Given the description of an element on the screen output the (x, y) to click on. 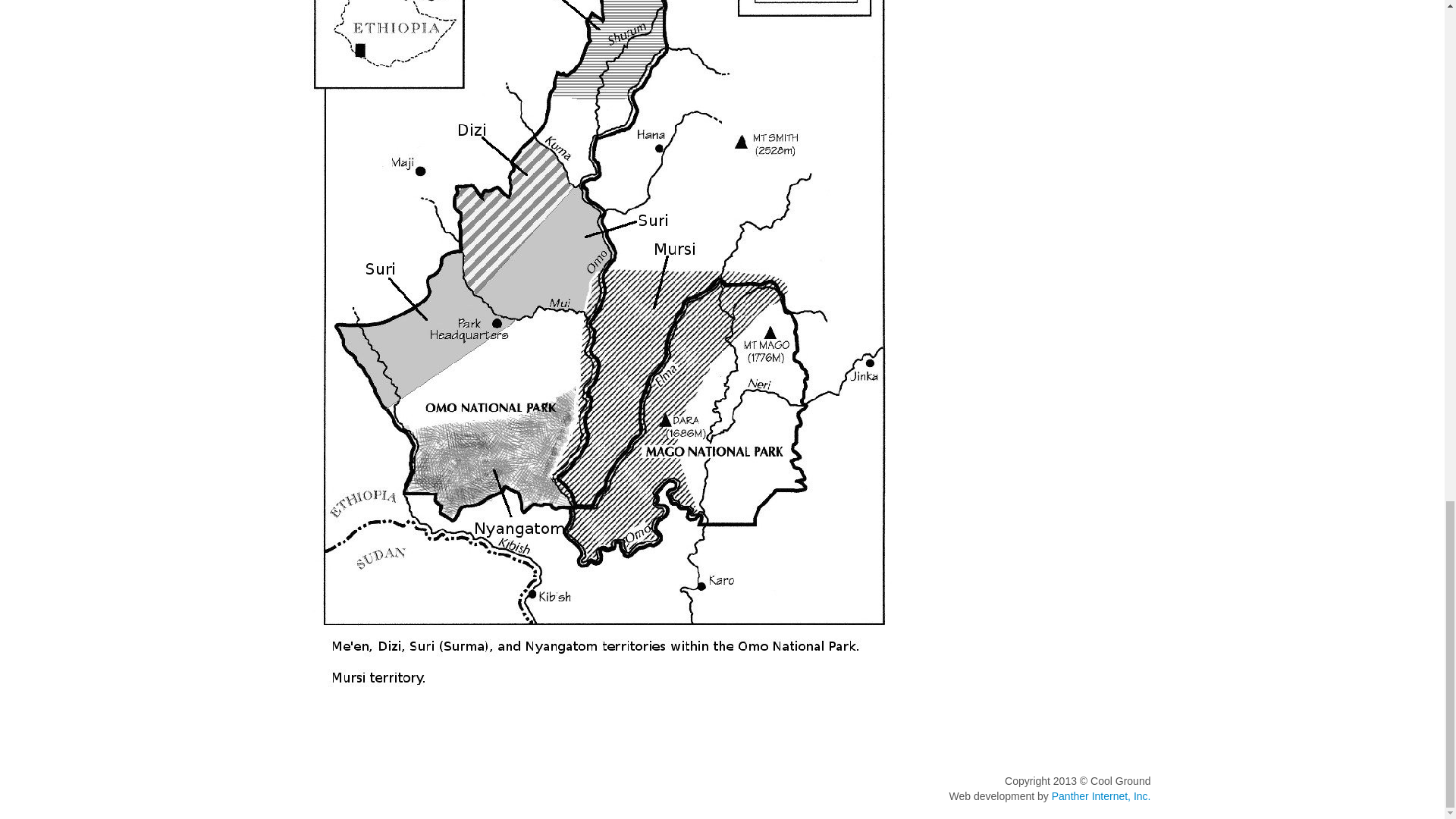
Panther Internet, Inc. (1101, 796)
